Given the description of an element on the screen output the (x, y) to click on. 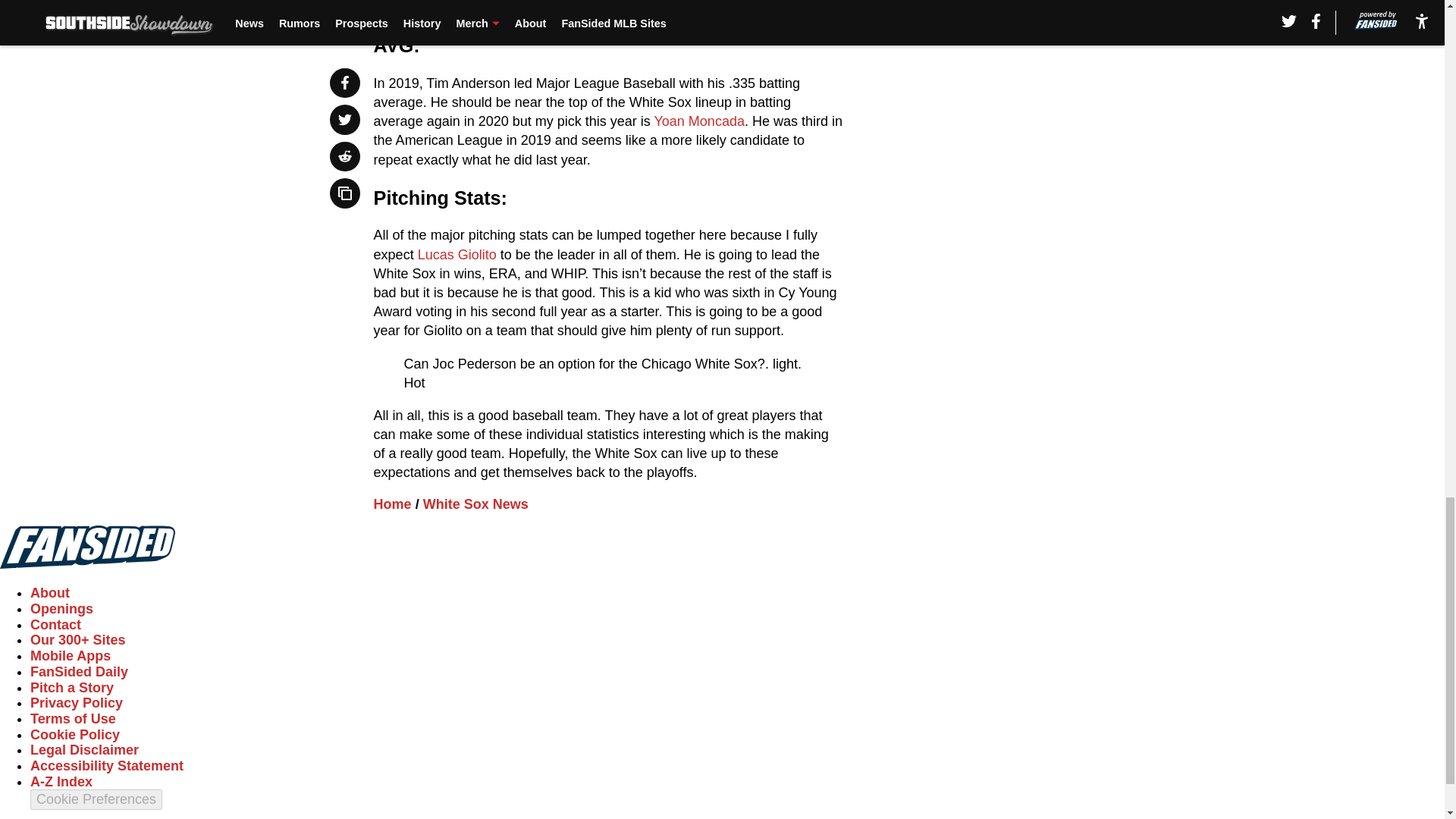
Lucas Giolito (456, 254)
Yoan Moncada (697, 120)
Home (393, 503)
About (49, 592)
White Sox News (475, 503)
